Given the description of an element on the screen output the (x, y) to click on. 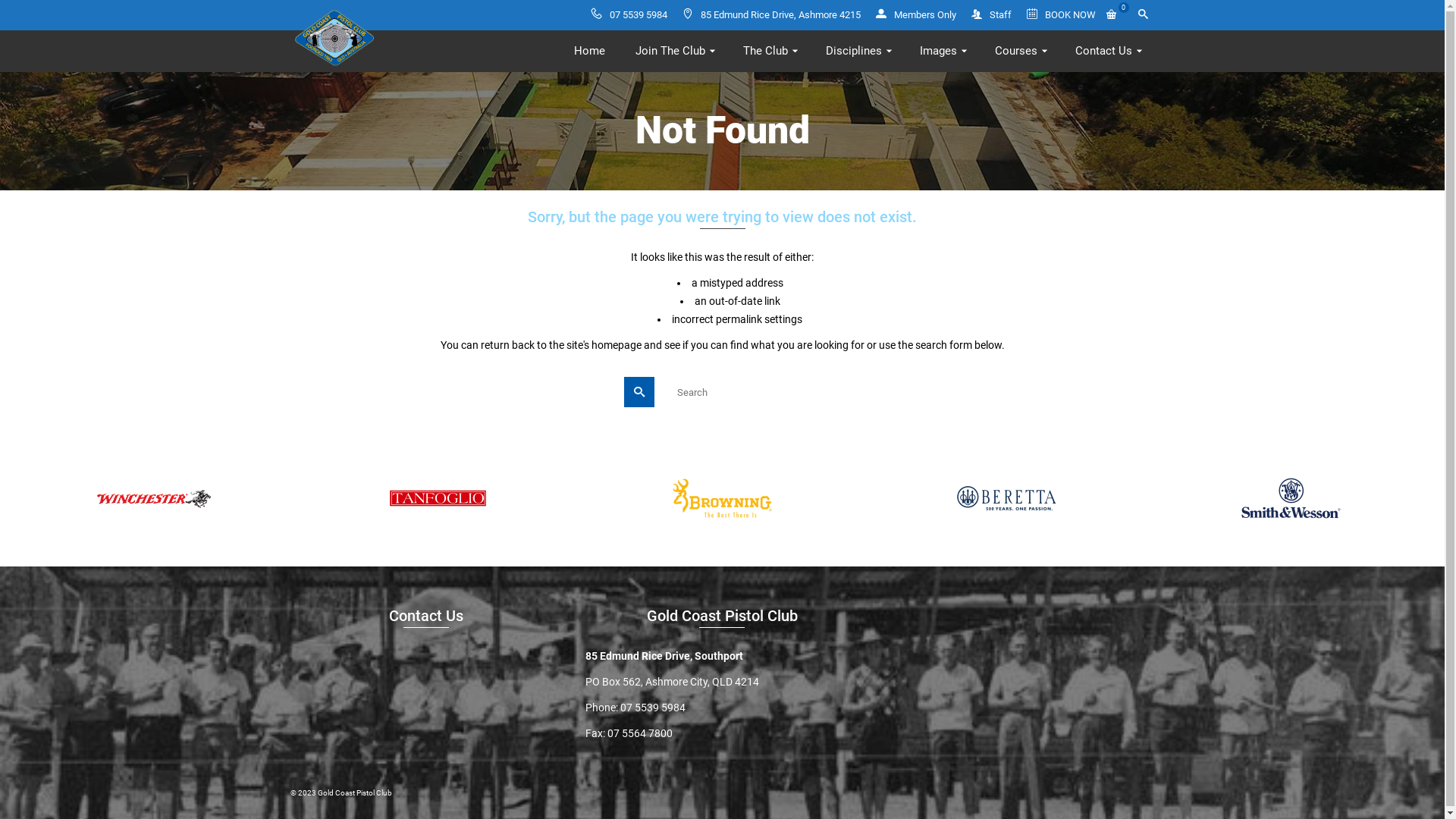
Images Element type: text (941, 51)
BOOK NOW Element type: text (1061, 15)
85 Edmund Rice Drive, Ashmore 4215 Element type: text (771, 15)
Join The Club Element type: text (674, 51)
0 Element type: text (1116, 15)
07 5539 5984 Element type: text (628, 15)
Contact Us Element type: text (1107, 51)
Disciplines Element type: text (856, 51)
Home Element type: text (588, 51)
Staff Element type: text (990, 15)
Members Only Element type: text (915, 15)
Courses Element type: text (1019, 51)
The Club Element type: text (769, 51)
